Given the description of an element on the screen output the (x, y) to click on. 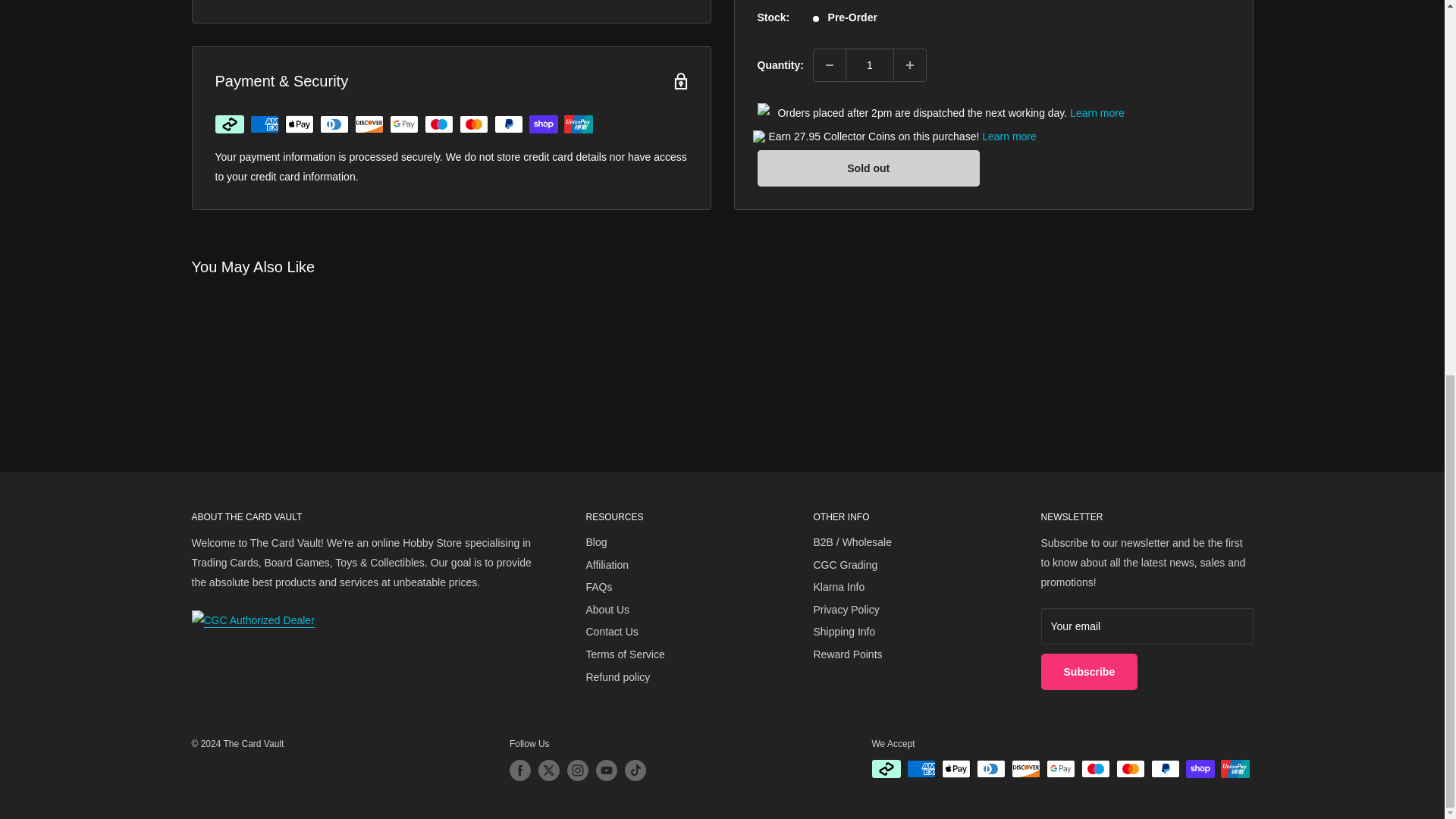
CGC Authorized Dealer (252, 619)
